Given the description of an element on the screen output the (x, y) to click on. 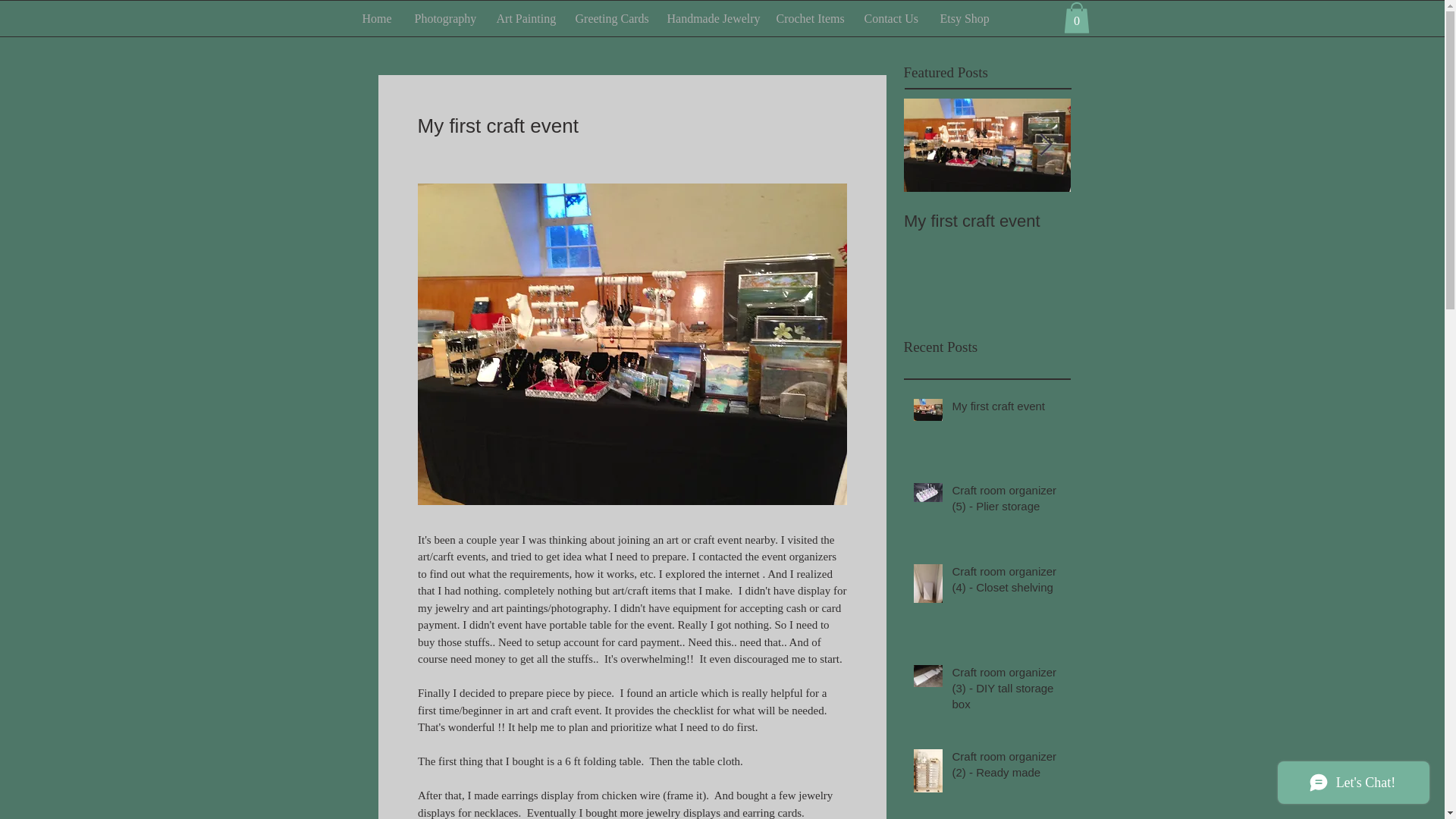
My first craft event (1006, 409)
Contact Us (889, 18)
My first craft event (987, 220)
Etsy Shop (961, 18)
Home (376, 18)
Greeting Cards (610, 18)
Crochet Items (807, 18)
